Given the description of an element on the screen output the (x, y) to click on. 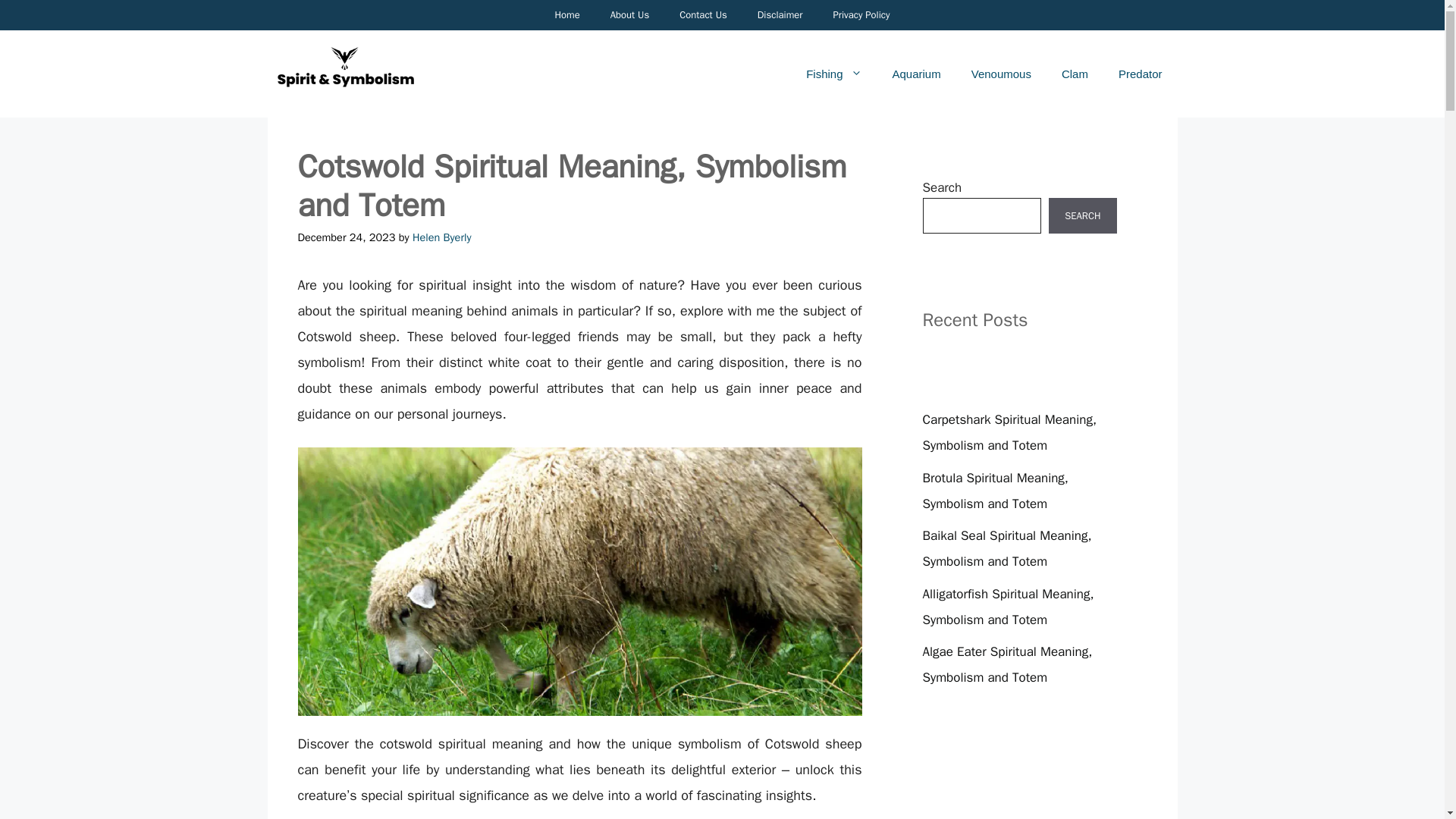
Home (566, 15)
Algae Eater Spiritual Meaning, Symbolism and Totem (1006, 664)
Predator (1140, 74)
Fishing (833, 74)
Helen Byerly (441, 237)
View all posts by Helen Byerly (441, 237)
About Us (629, 15)
Privacy Policy (860, 15)
Alligatorfish Spiritual Meaning, Symbolism and Totem (1007, 607)
Venoumous (1001, 74)
